Given the description of an element on the screen output the (x, y) to click on. 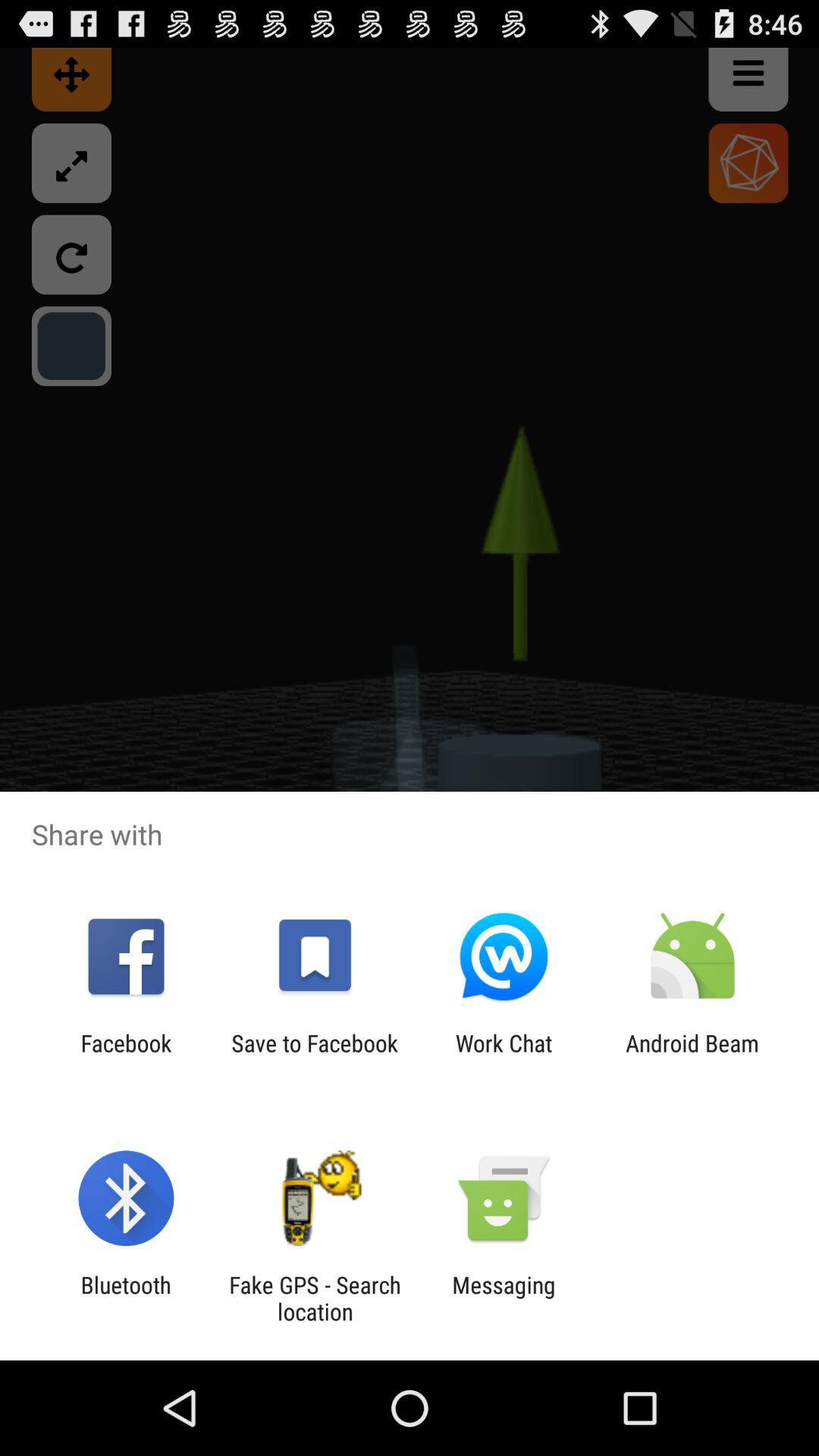
flip until bluetooth item (125, 1298)
